Given the description of an element on the screen output the (x, y) to click on. 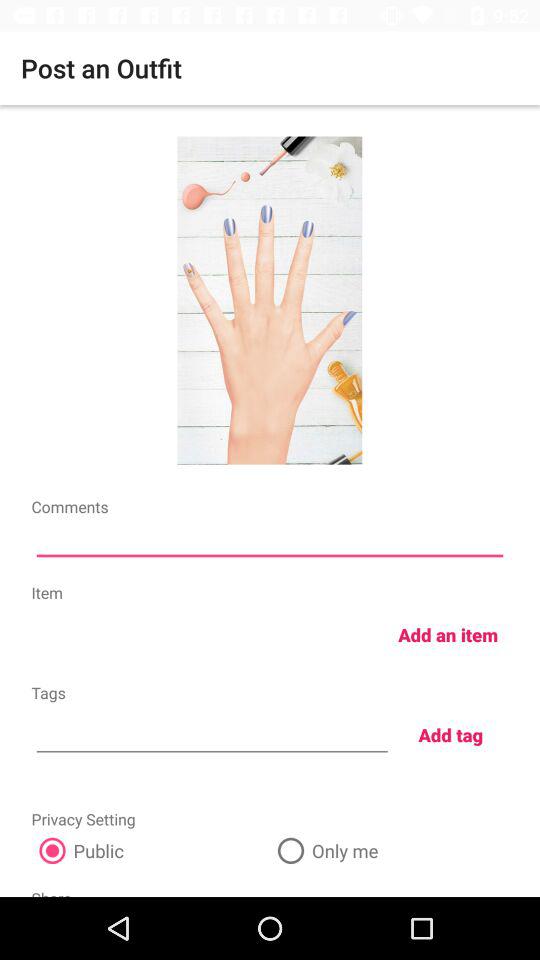
open icon below the tags (212, 732)
